Given the description of an element on the screen output the (x, y) to click on. 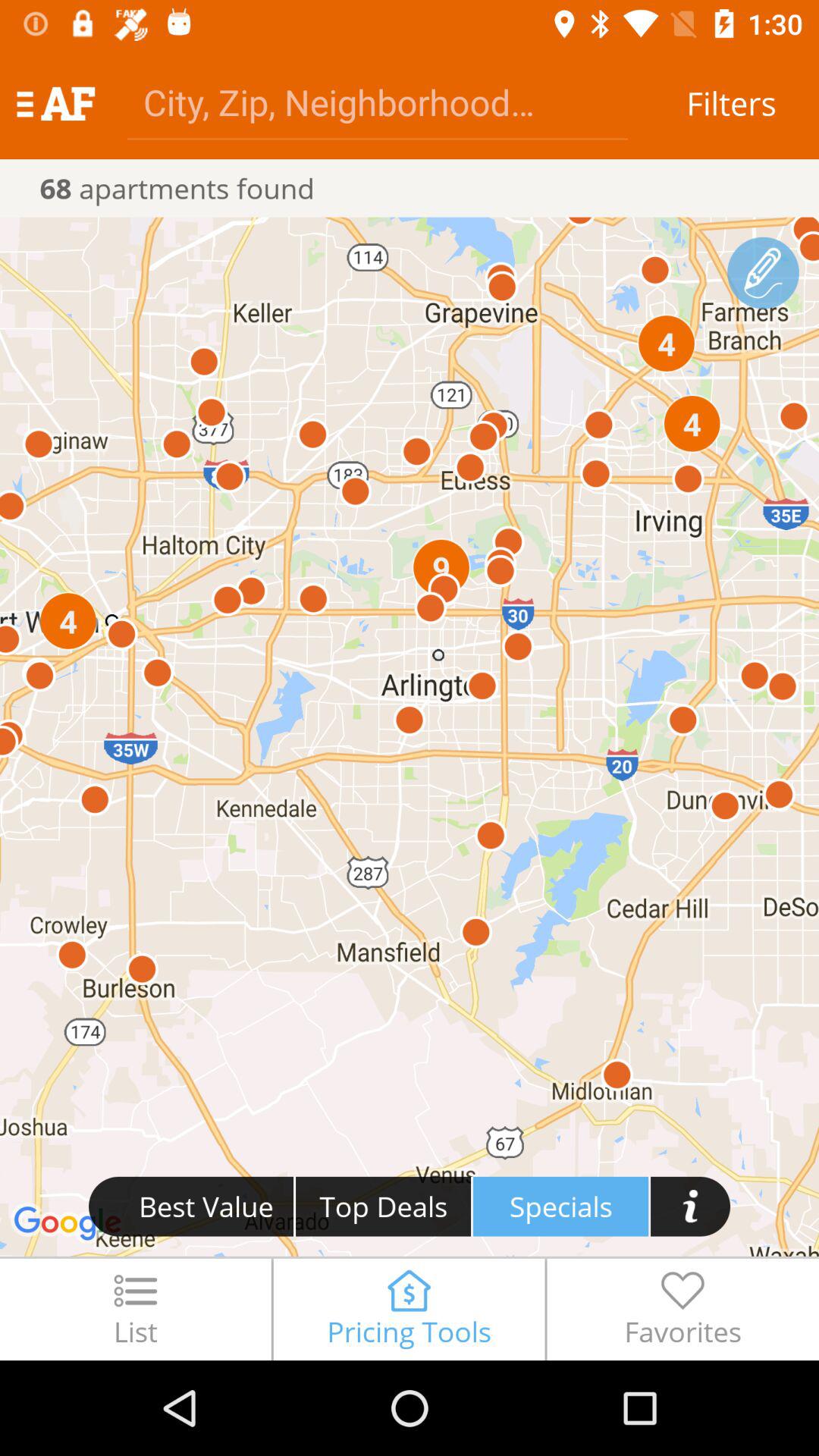
turn on the icon above the 68 apartments found icon (55, 103)
